Given the description of an element on the screen output the (x, y) to click on. 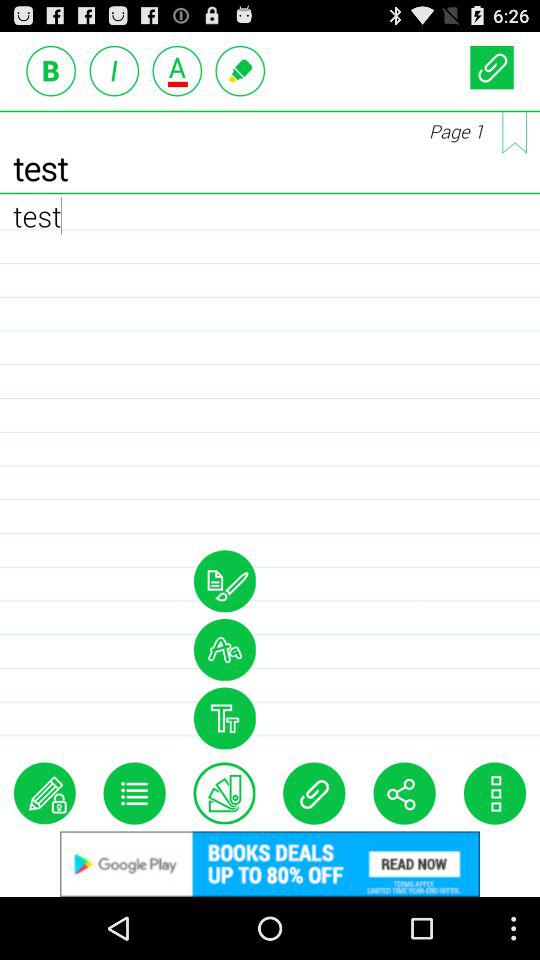
access font options (224, 649)
